Given the description of an element on the screen output the (x, y) to click on. 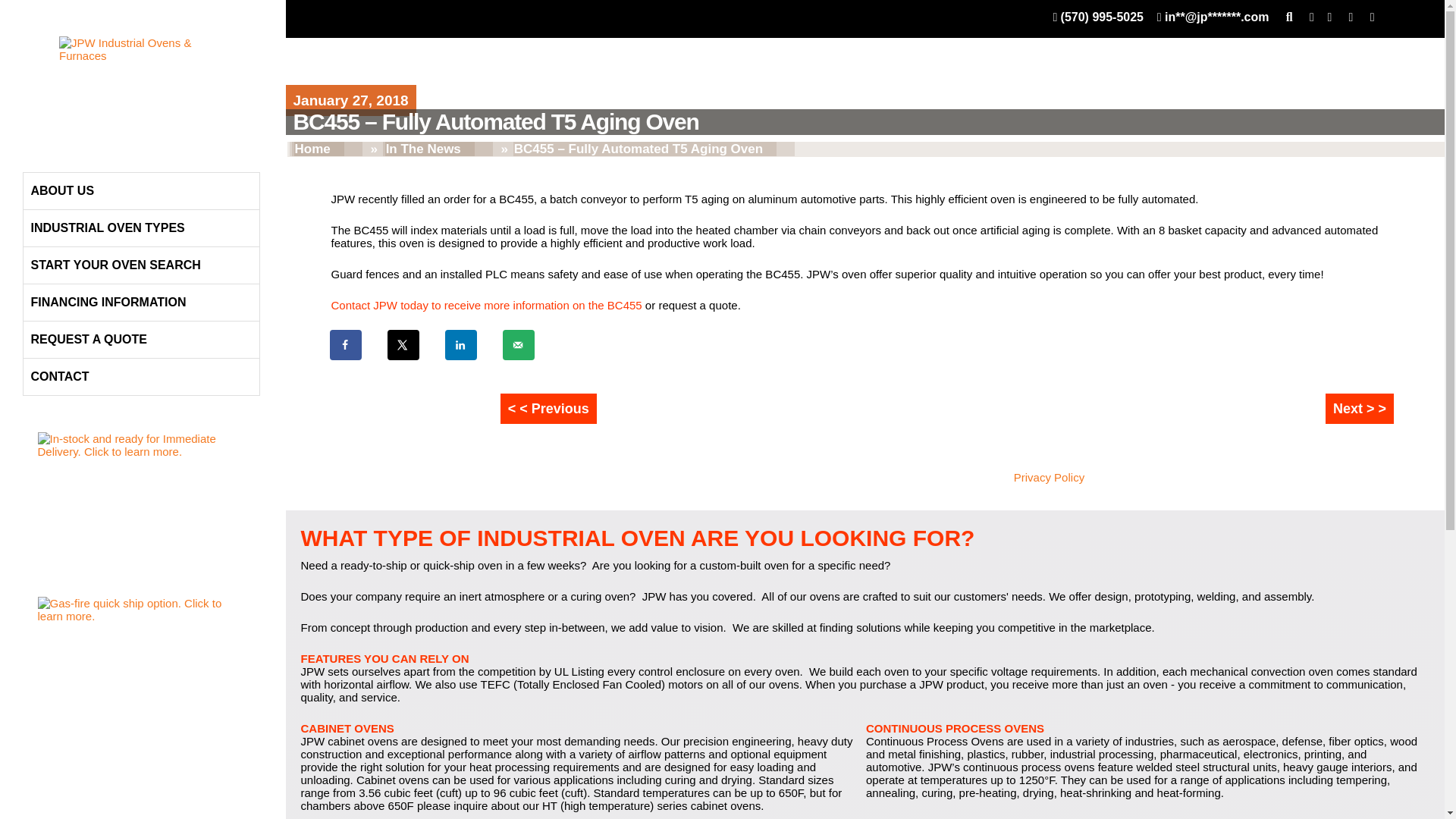
Share on Facebook (345, 345)
Share on X (403, 345)
REQUEST A QUOTE (141, 339)
Contact JPW today to receive more information on the BC455 (486, 305)
Share on LinkedIn (460, 345)
JPW Industrial Ovens and Furnaces (140, 81)
Skip to content (60, 150)
request a quote (697, 305)
Home (318, 148)
CONTACT (141, 376)
